Given the description of an element on the screen output the (x, y) to click on. 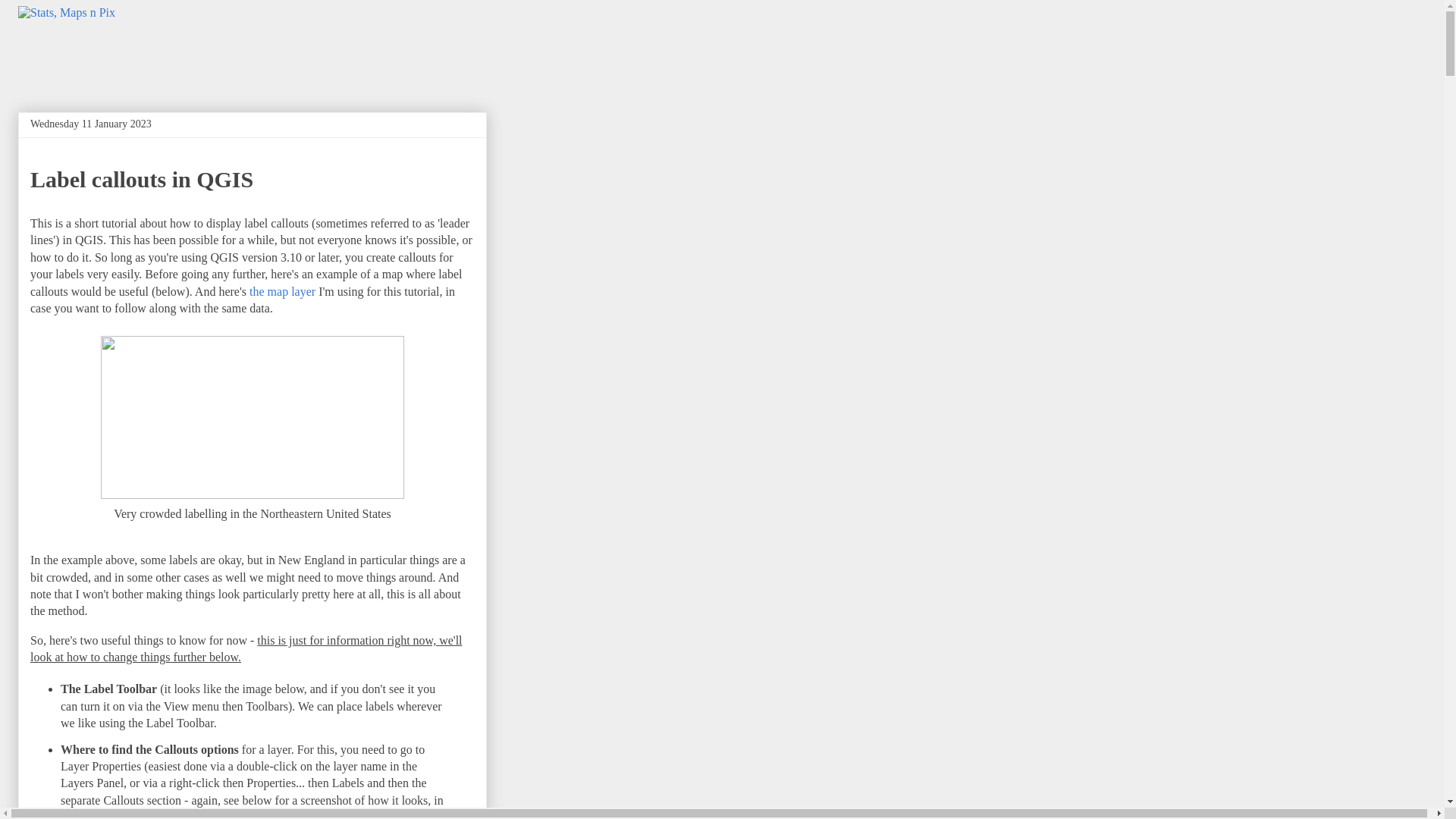
the map layer (281, 291)
